Given the description of an element on the screen output the (x, y) to click on. 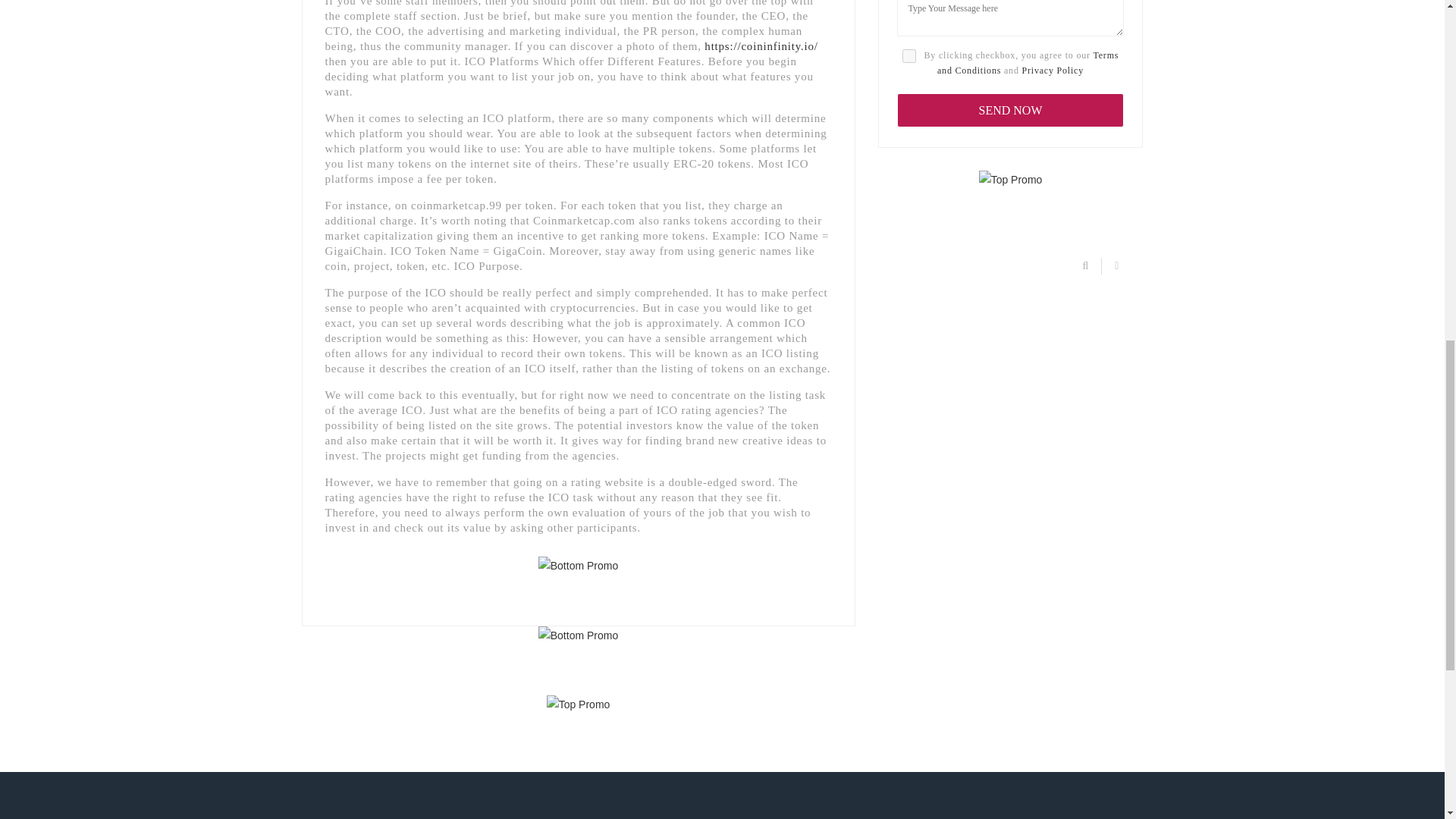
on (908, 56)
Send now (1010, 110)
Send now (1010, 110)
